Given the description of an element on the screen output the (x, y) to click on. 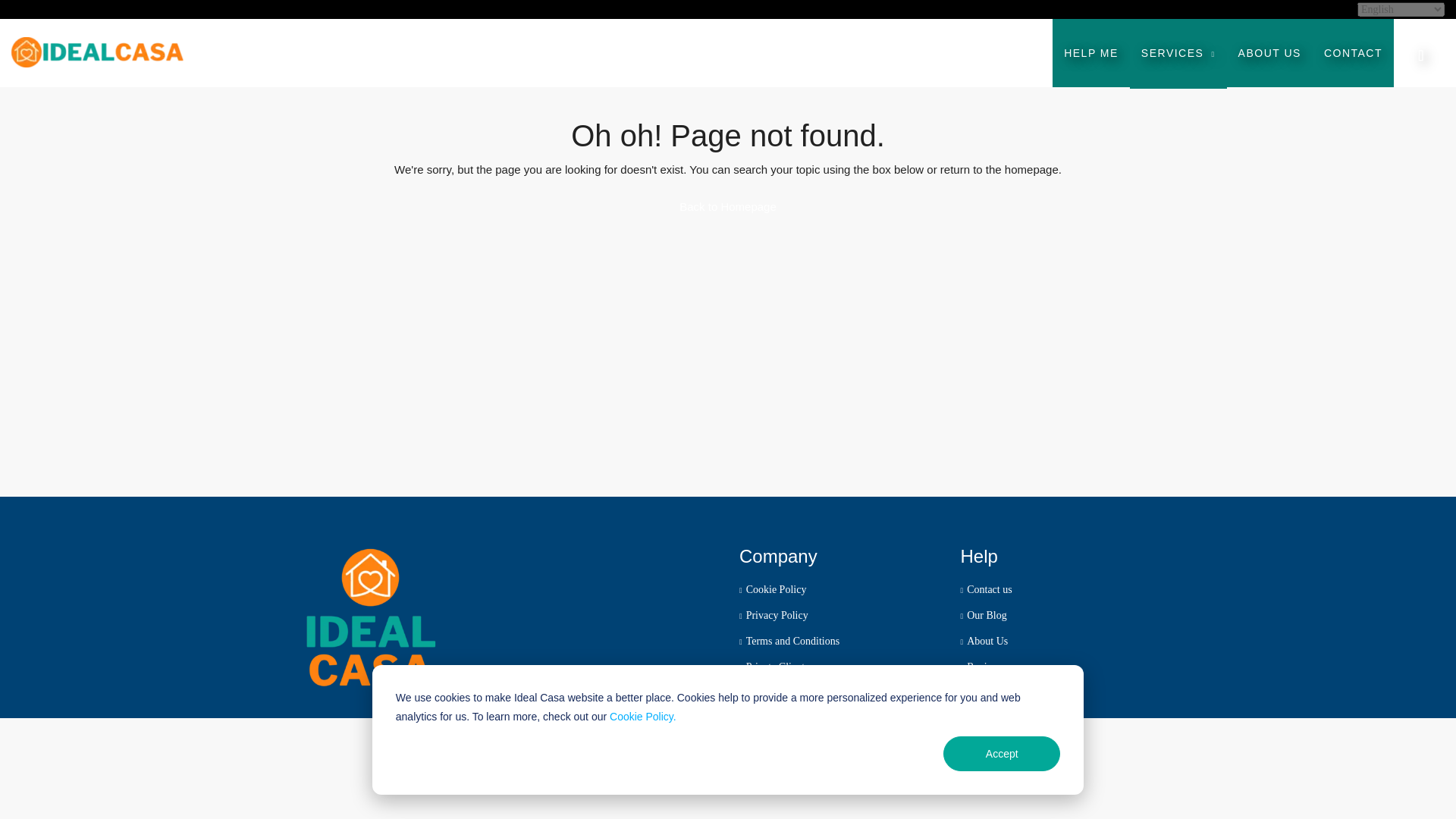
About Us (983, 641)
Terms and Conditions (789, 641)
Cookie Policy (772, 589)
Contact us (985, 589)
Reviews (981, 666)
ABOUT US (1270, 52)
Private Client (772, 666)
Our Blog (982, 614)
SERVICES (1178, 53)
Back to Homepage (727, 206)
